Given the description of an element on the screen output the (x, y) to click on. 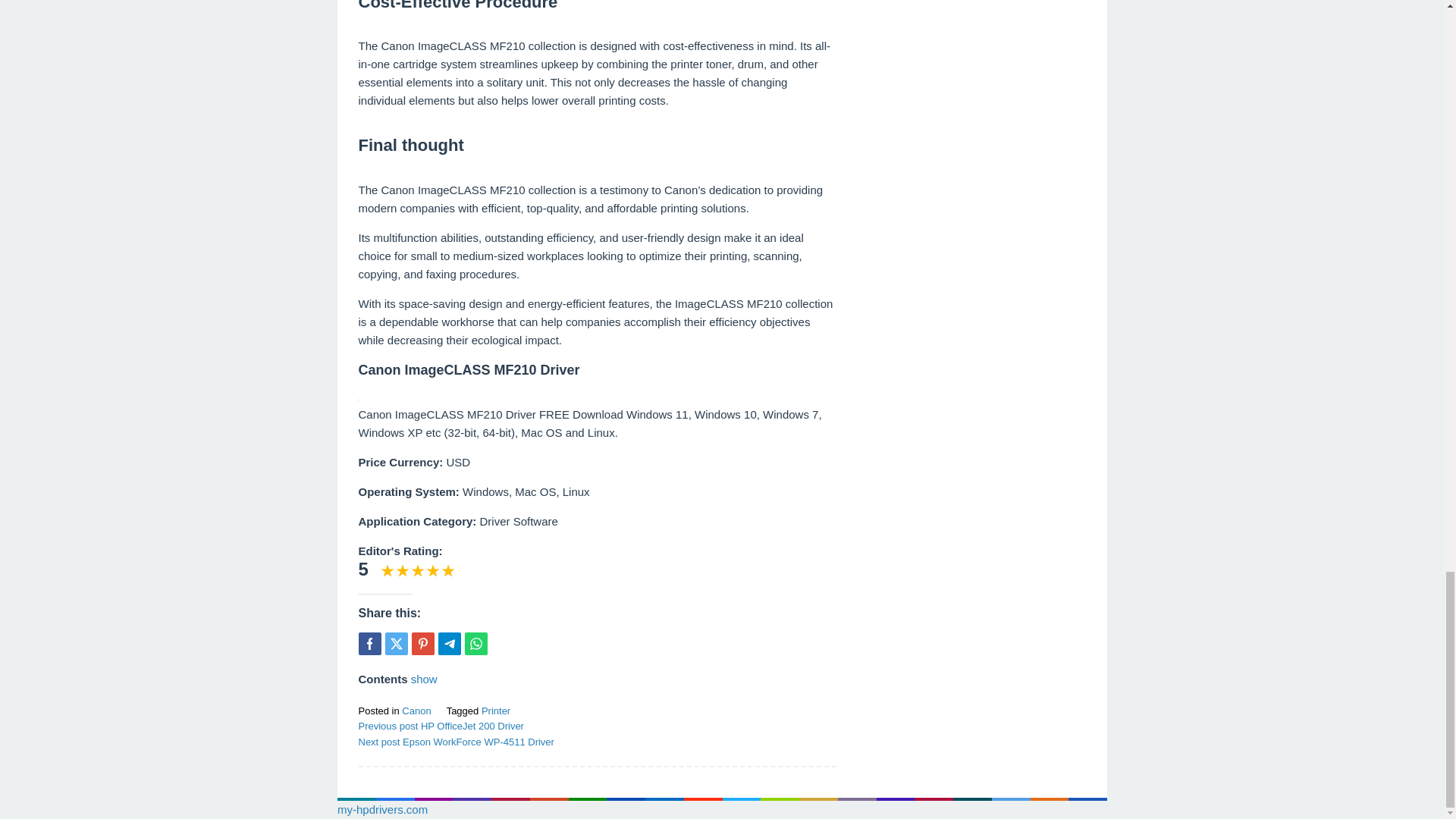
Pin this (421, 643)
show (424, 678)
Whatsapp (475, 643)
Telegram Share (449, 643)
Tweet this (396, 643)
Share this (369, 643)
